Given the description of an element on the screen output the (x, y) to click on. 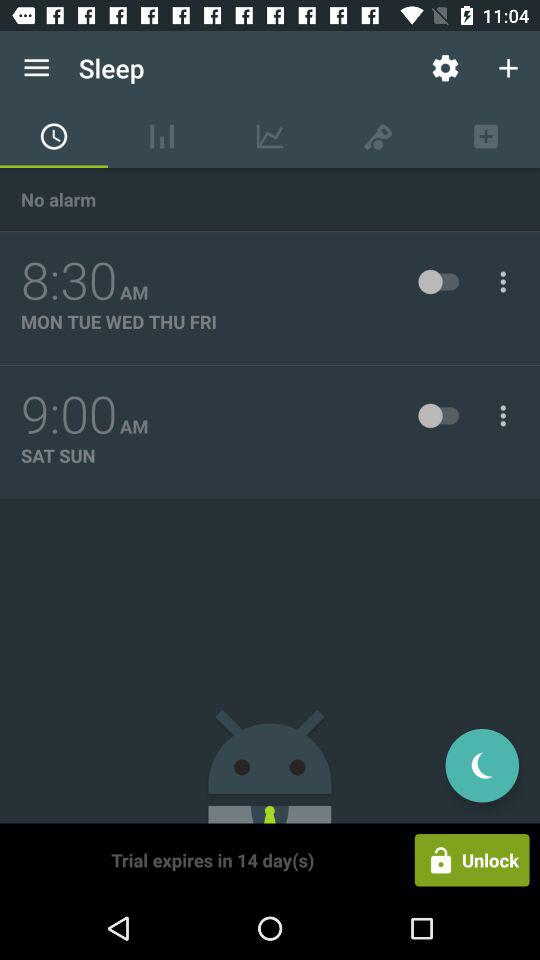
do not disturb function (482, 765)
